Given the description of an element on the screen output the (x, y) to click on. 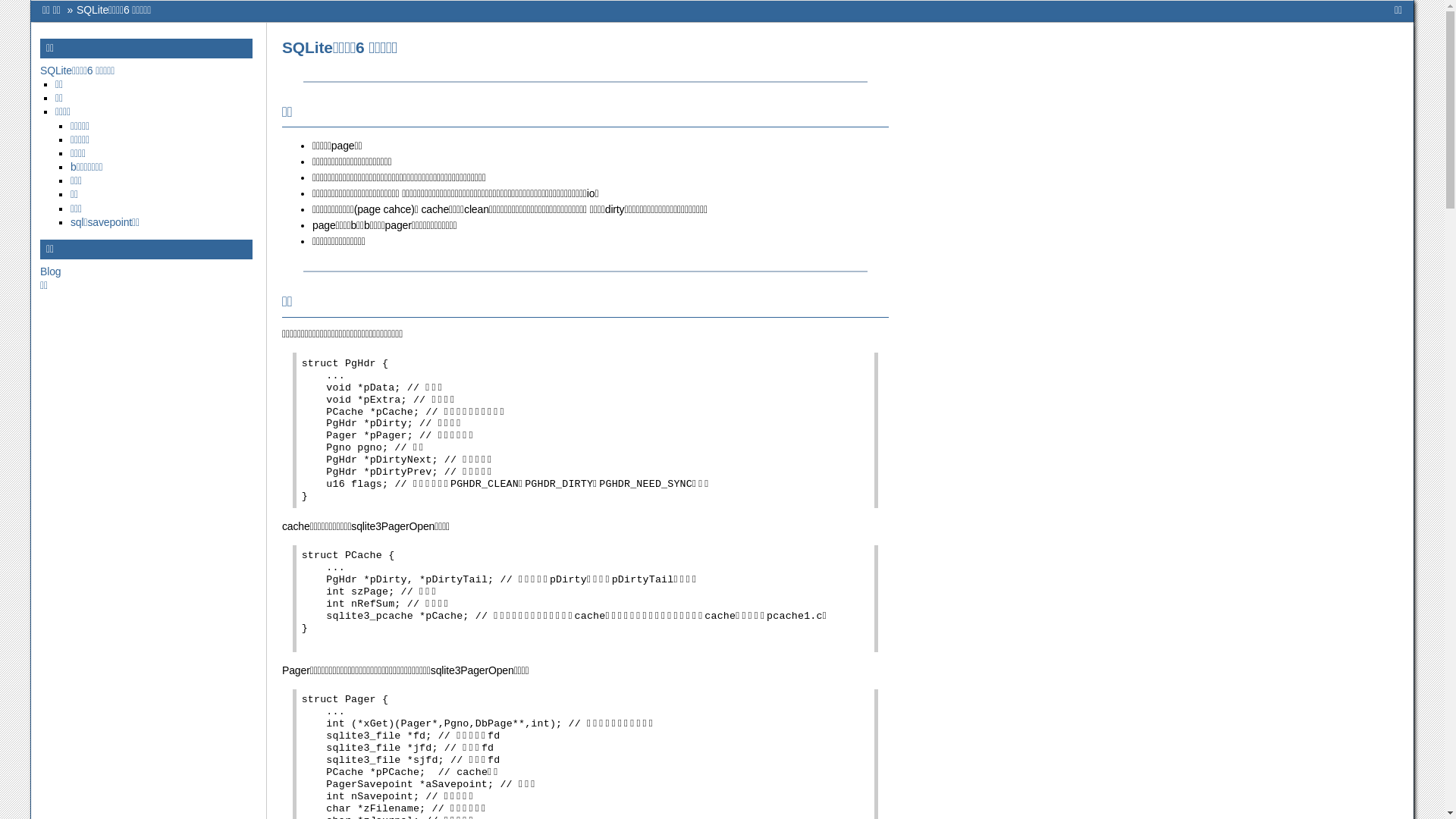
Blog Element type: text (50, 271)
